Given the description of an element on the screen output the (x, y) to click on. 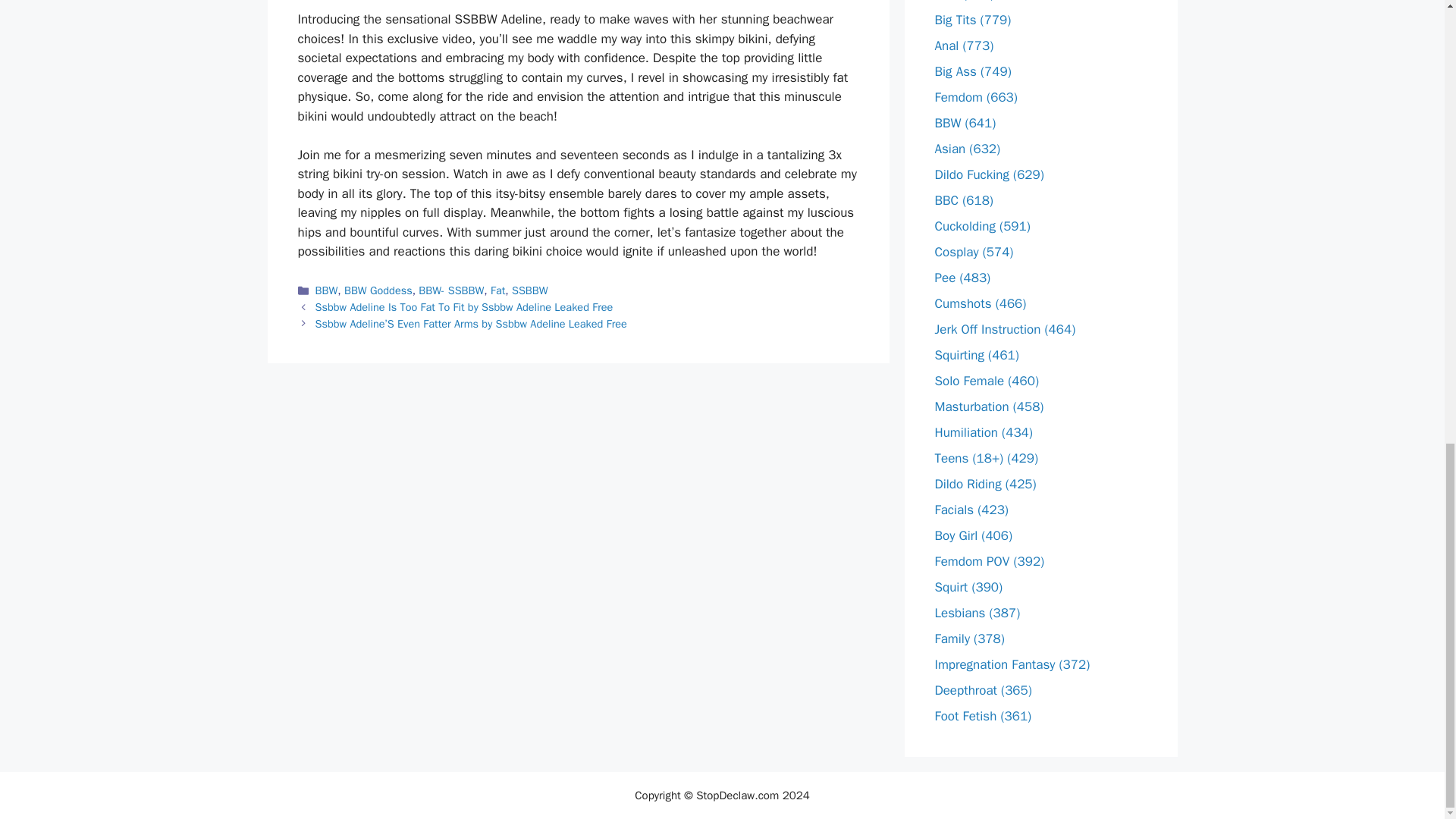
BBW (326, 290)
Ssbbw Adeline Is Too Fat To Fit by Ssbbw Adeline Leaked Free (463, 306)
BBW- SSBBW (451, 290)
SSBBW (530, 290)
BBW Goddess (377, 290)
Fat (497, 290)
